Given the description of an element on the screen output the (x, y) to click on. 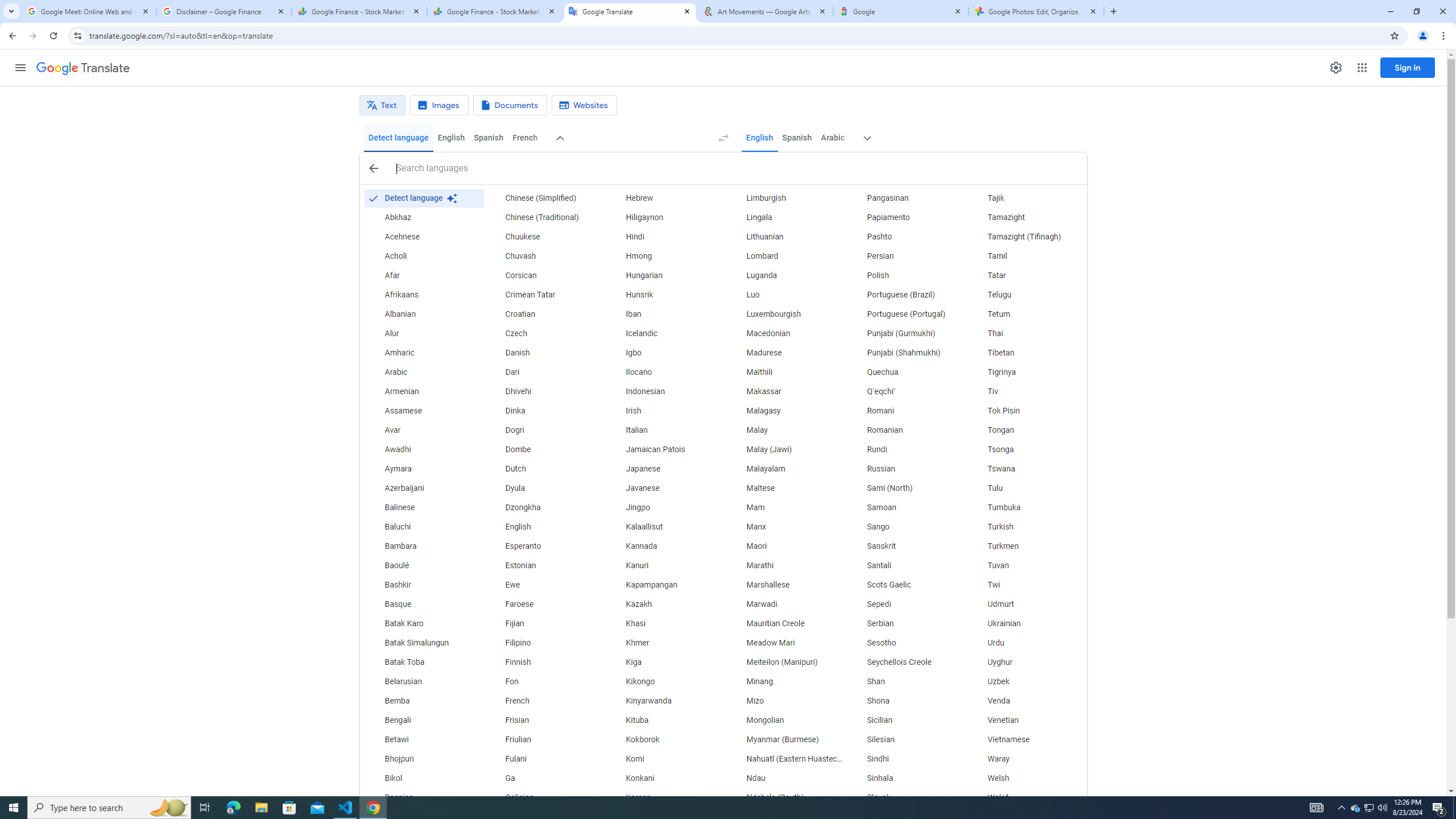
Mam (785, 507)
Image translation (439, 105)
Kituba (665, 720)
Google Translate (82, 68)
Czech (544, 334)
Marshallese (785, 584)
Swap languages (Ctrl+Shift+S) (723, 137)
Armenian (423, 391)
Sango (905, 527)
Batak Toba (423, 662)
Slovak (905, 797)
Hebrew (665, 198)
Abkhaz (423, 217)
